Given the description of an element on the screen output the (x, y) to click on. 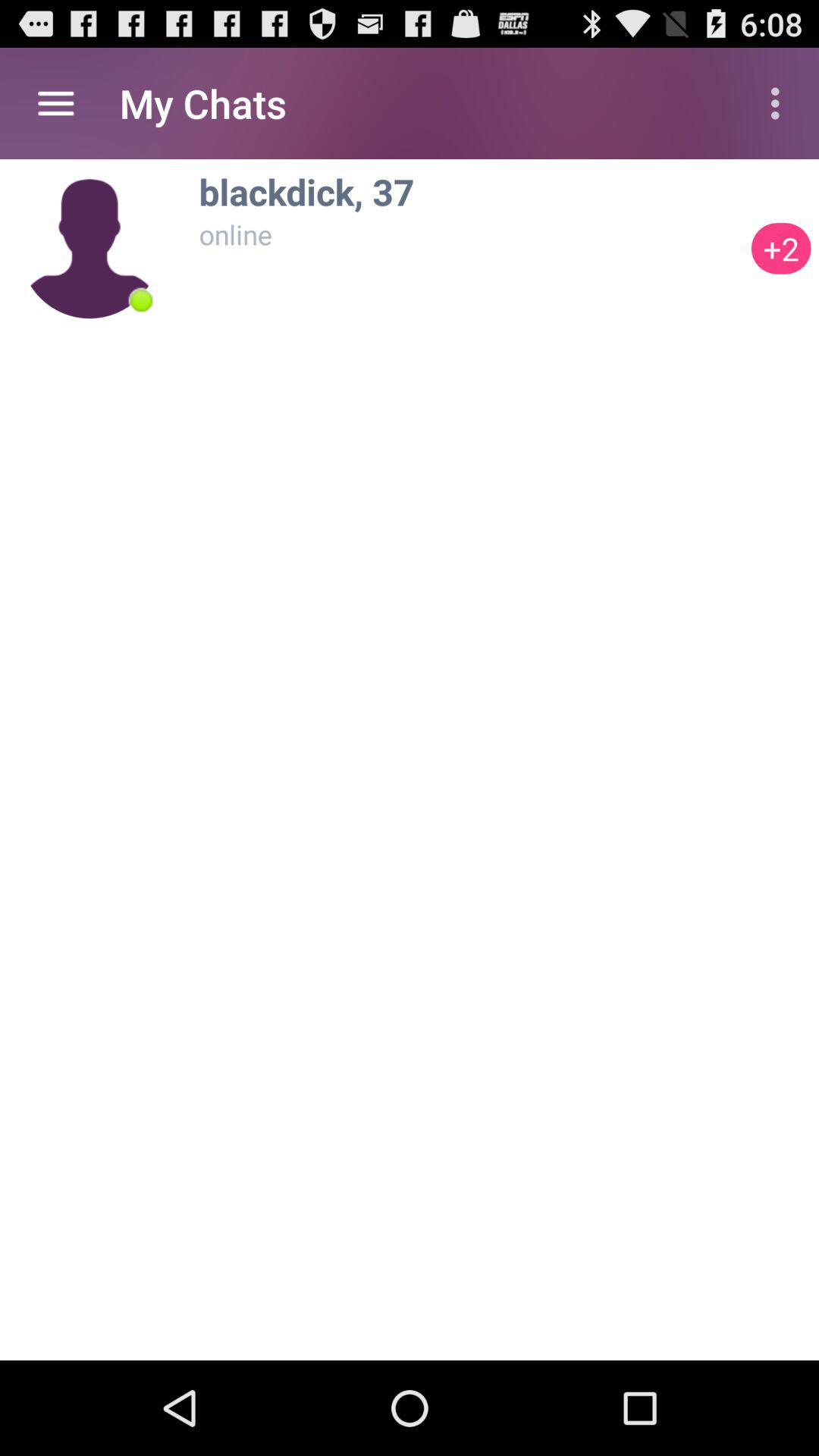
click icon below the blackdick, 37 (781, 248)
